Given the description of an element on the screen output the (x, y) to click on. 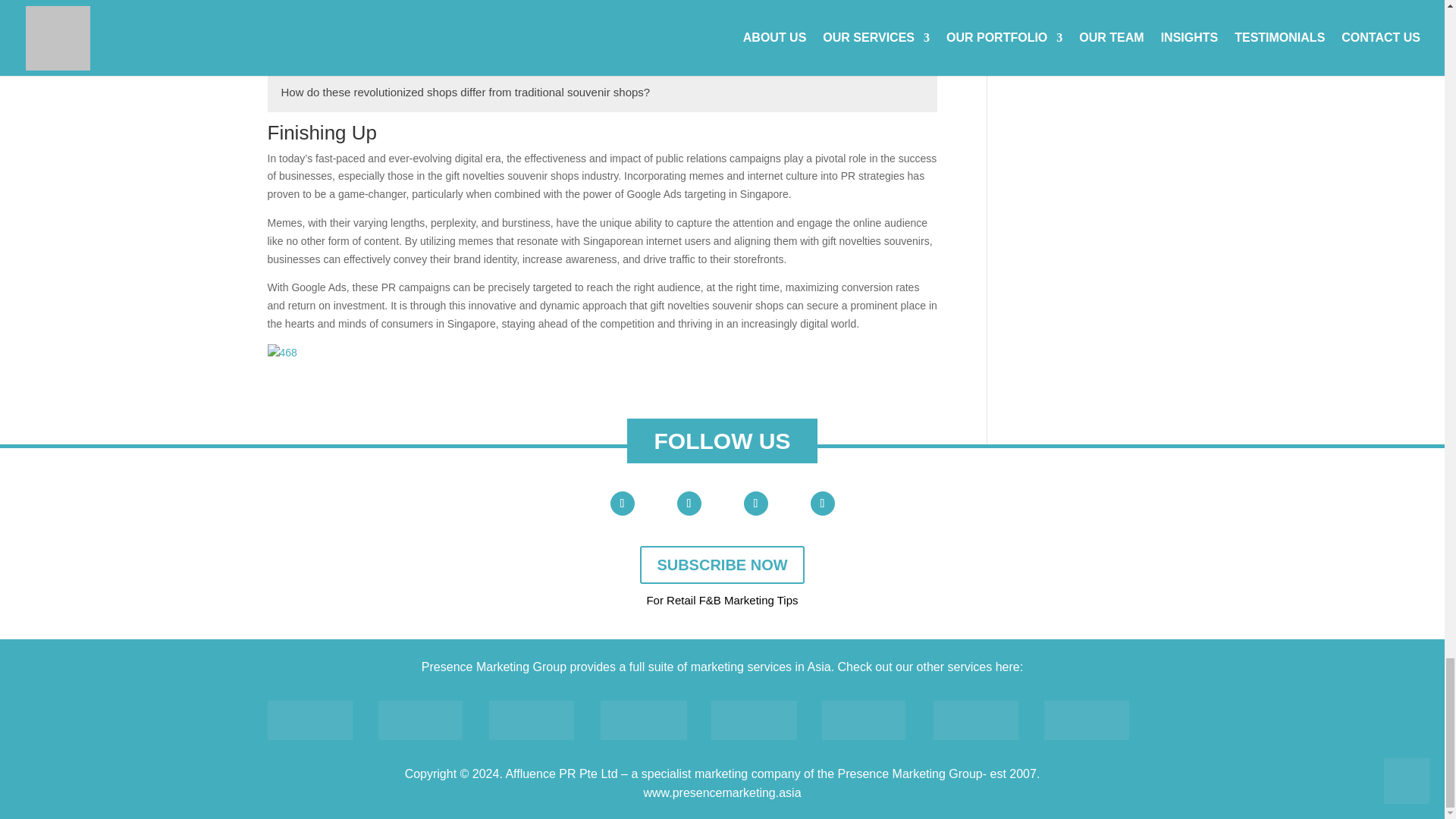
Affluence PR (309, 720)
Decadence Design (643, 720)
Follow on LinkedIn (754, 503)
Follow on Youtube (621, 503)
Potence PR (863, 720)
Follow on Instagram (821, 503)
Ambience PR (420, 720)
Confluence PR (531, 720)
